Given the description of an element on the screen output the (x, y) to click on. 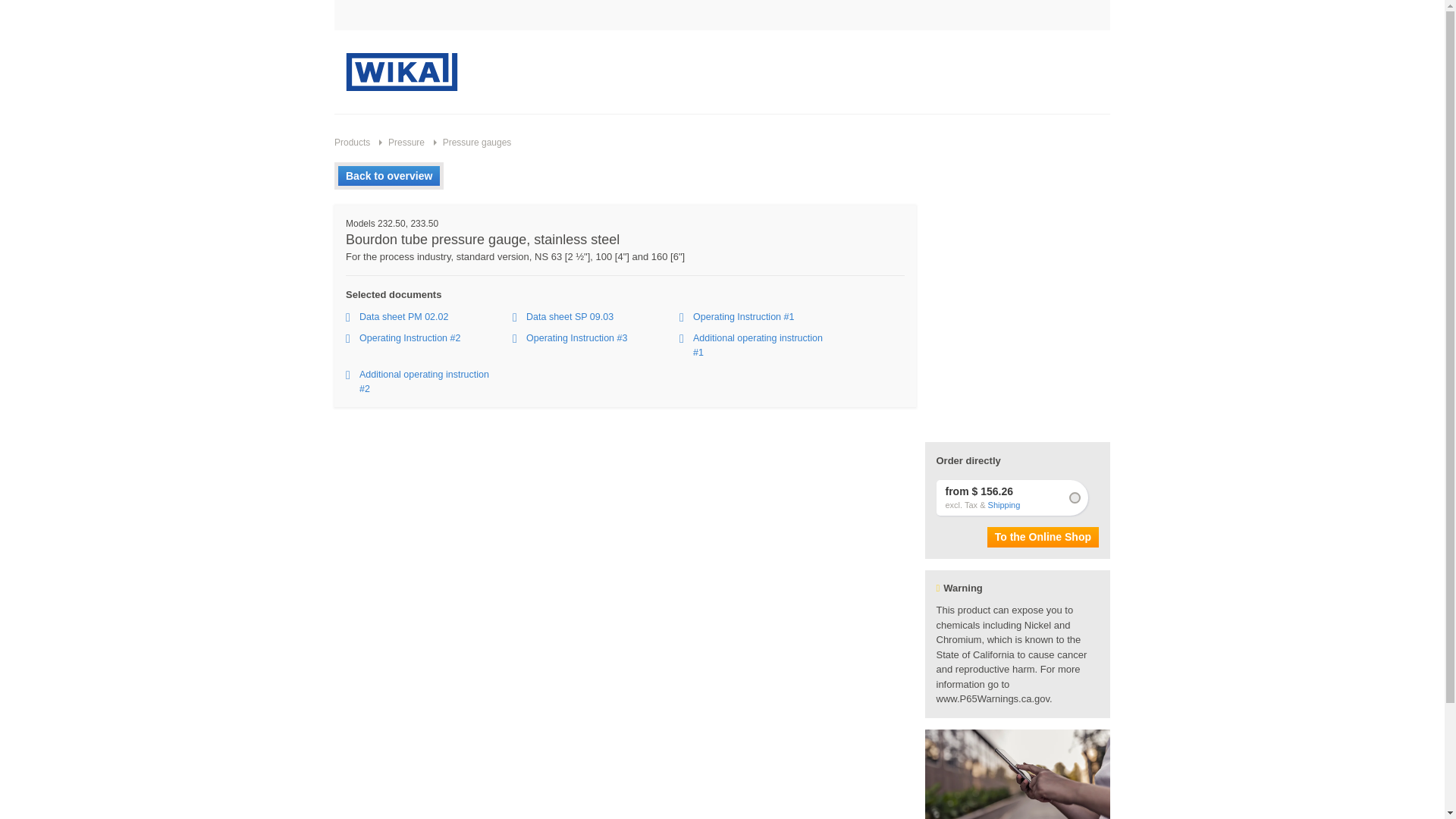
Shipping (1004, 505)
WIKA Product Pass (1017, 774)
To the Online Shop (1043, 537)
Data sheet SP 09.03, Limit indicator option (595, 317)
Products (351, 142)
Data sheet SP 09.03 (595, 317)
Back to overview (388, 175)
Pressure gauges (470, 142)
Pressure (398, 142)
Data sheet PM 02.02 (429, 317)
